Given the description of an element on the screen output the (x, y) to click on. 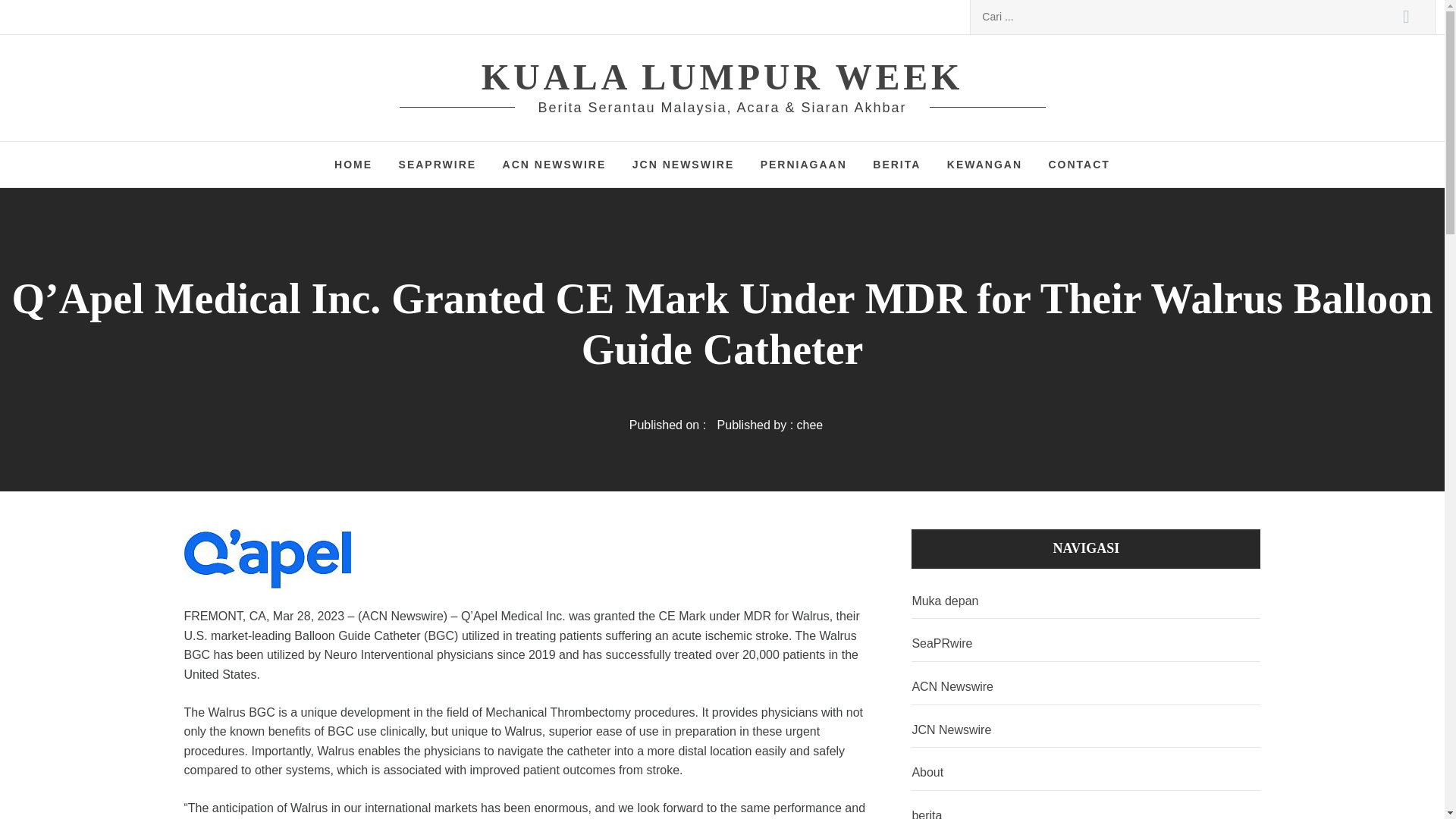
KEWANGAN (984, 164)
SEAPRWIRE (437, 164)
Cari (1405, 17)
berita (1085, 808)
Cari (1405, 17)
JCN Newswire (1085, 730)
PERNIAGAAN (804, 164)
KUALA LUMPUR WEEK (721, 76)
BERITA (896, 164)
SeaPRwire (1085, 643)
chee (810, 424)
JCN NEWSWIRE (683, 164)
About (1085, 773)
HOME (353, 164)
ACN Newswire (1085, 687)
